Given the description of an element on the screen output the (x, y) to click on. 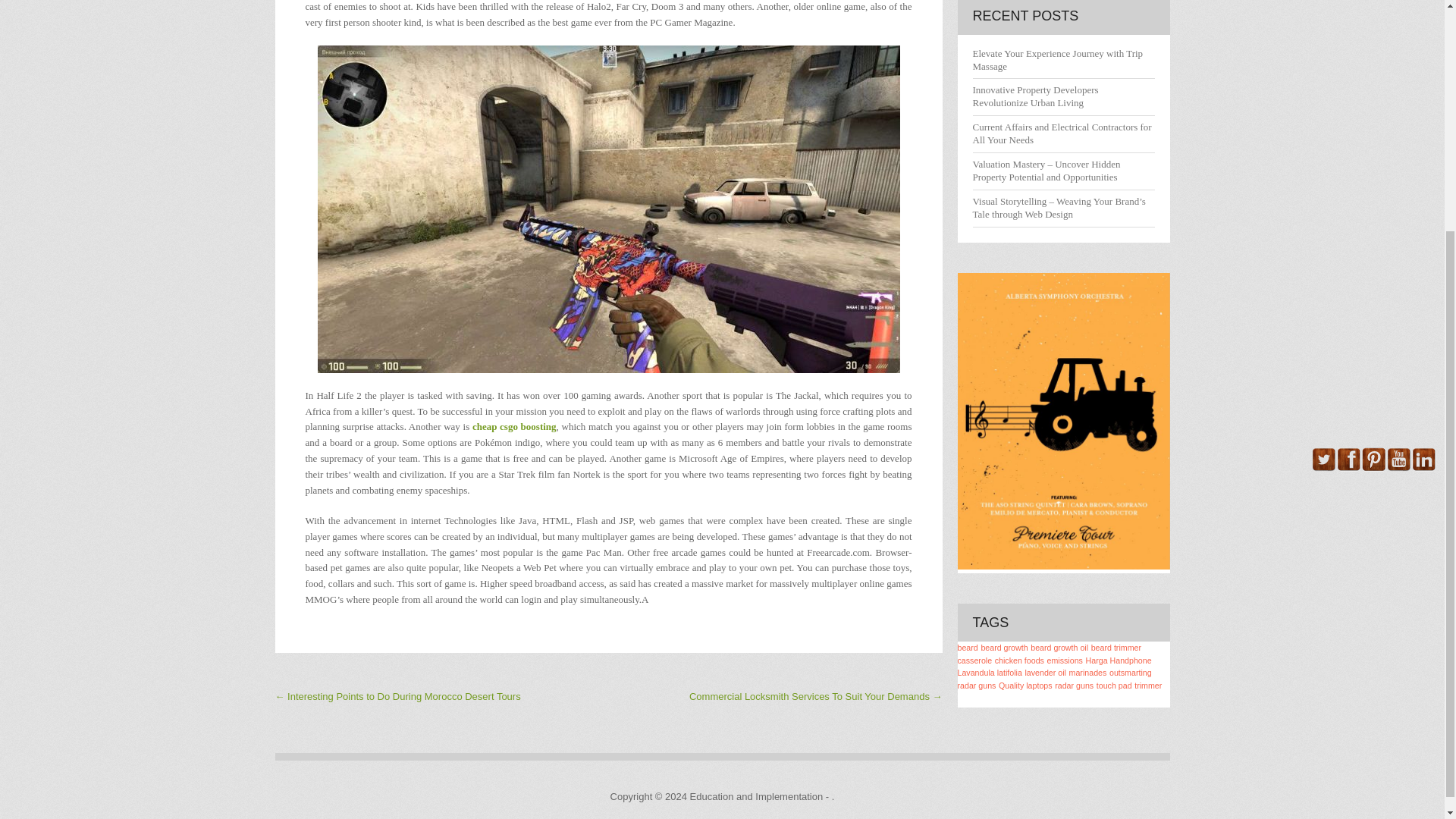
Quality laptops (1025, 685)
Harga Handphone (1118, 660)
touch pad (1114, 685)
casserole (973, 660)
chicken foods (1018, 660)
outsmarting radar guns (1053, 679)
Lavandula latifolia (989, 672)
Visit Us On Linkedin (1422, 468)
Education and Implementation (757, 796)
emissions (1064, 660)
